Given the description of an element on the screen output the (x, y) to click on. 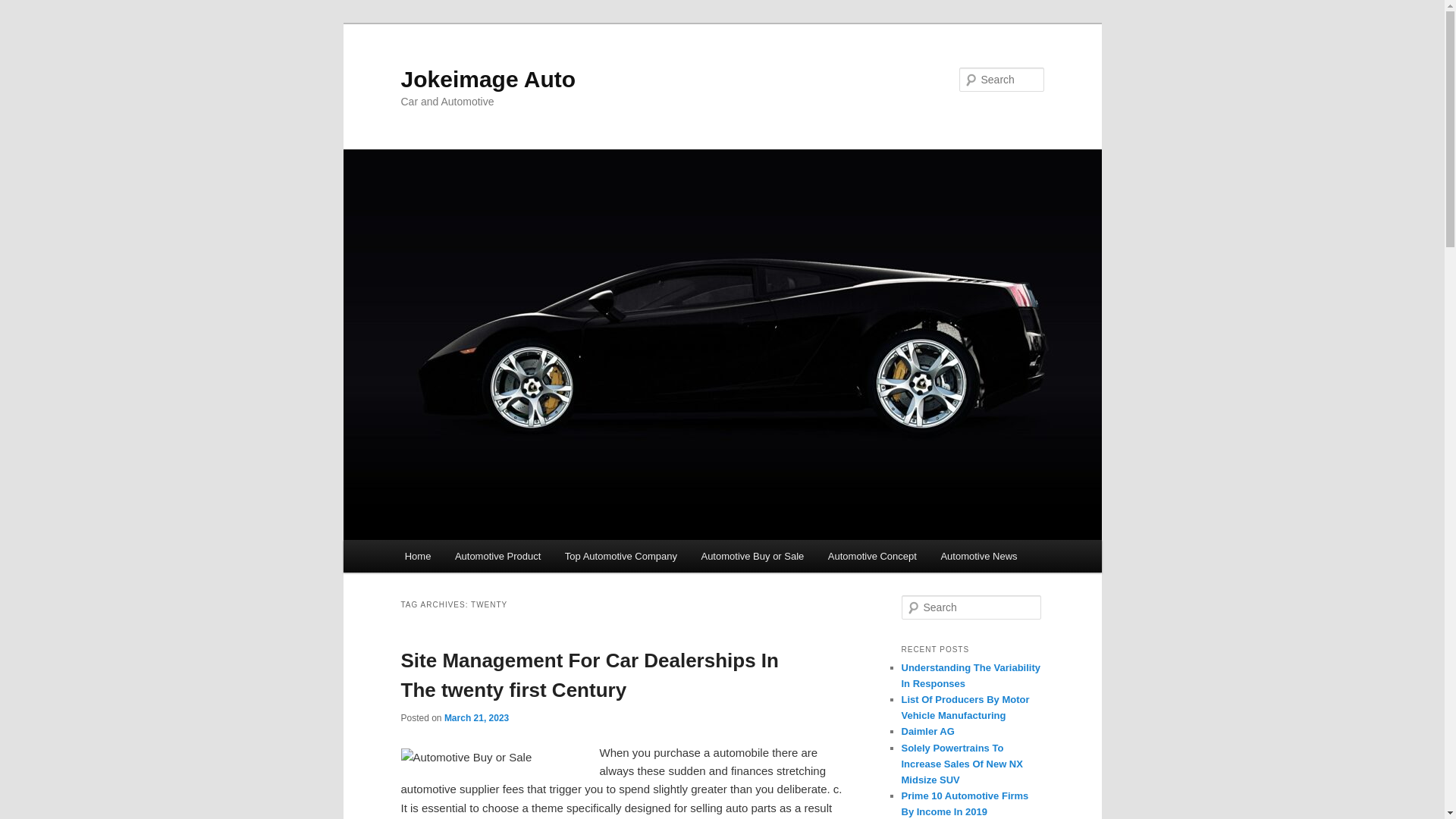
Automotive News (978, 555)
Daimler AG (927, 731)
Top Automotive Company (620, 555)
Understanding The Variability In Responses (970, 675)
Search (24, 8)
March 21, 2023 (476, 717)
Search (21, 11)
12:25 pm (476, 717)
Solely Powertrains To Increase Sales Of New NX Midsize SUV (961, 763)
Automotive Buy or Sale (751, 555)
Automotive Product (497, 555)
Jokeimage Auto (487, 78)
Home (417, 555)
Automotive Concept (871, 555)
